Given the description of an element on the screen output the (x, y) to click on. 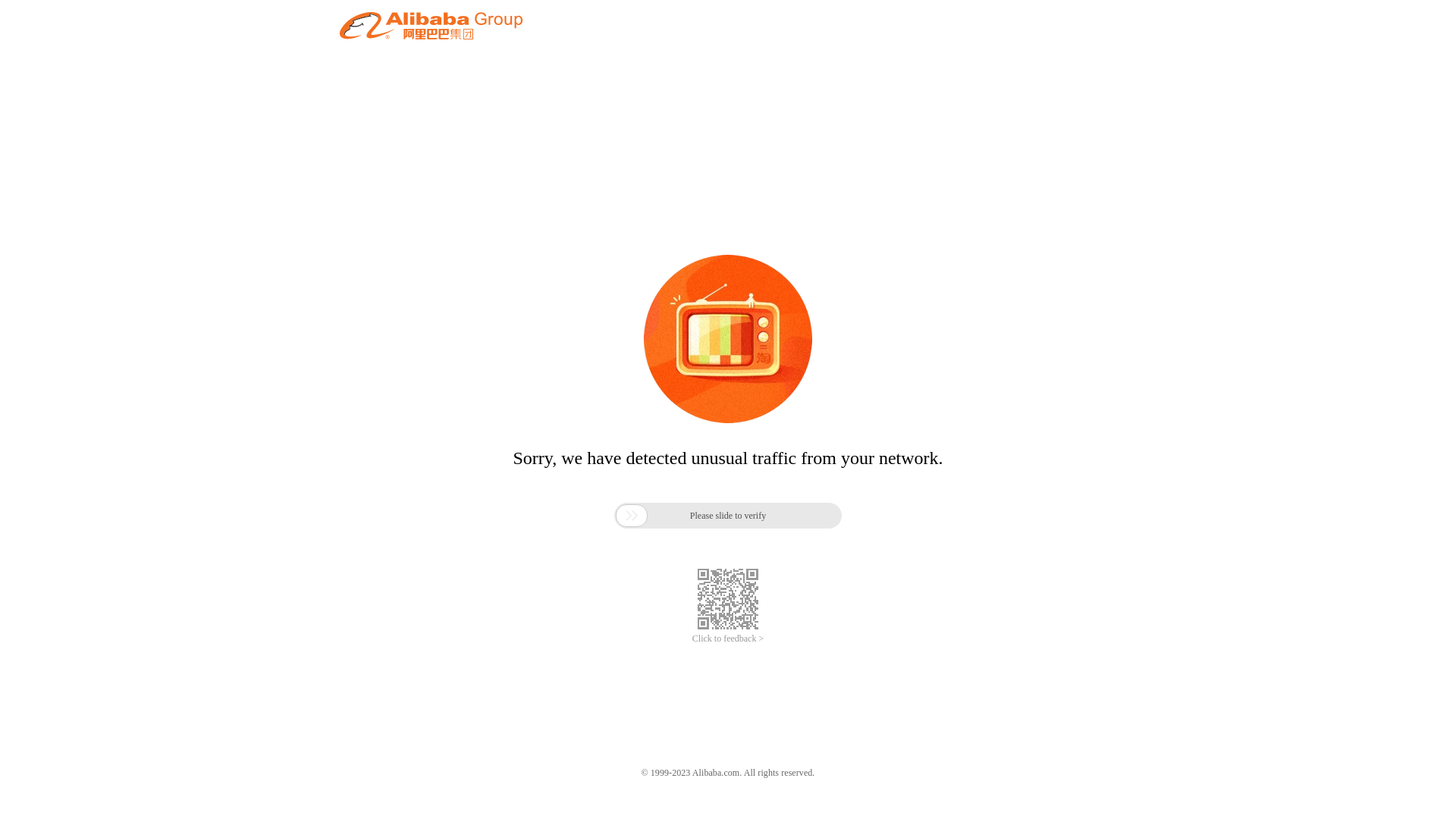
Click to feedback > Element type: text (727, 638)
